Given the description of an element on the screen output the (x, y) to click on. 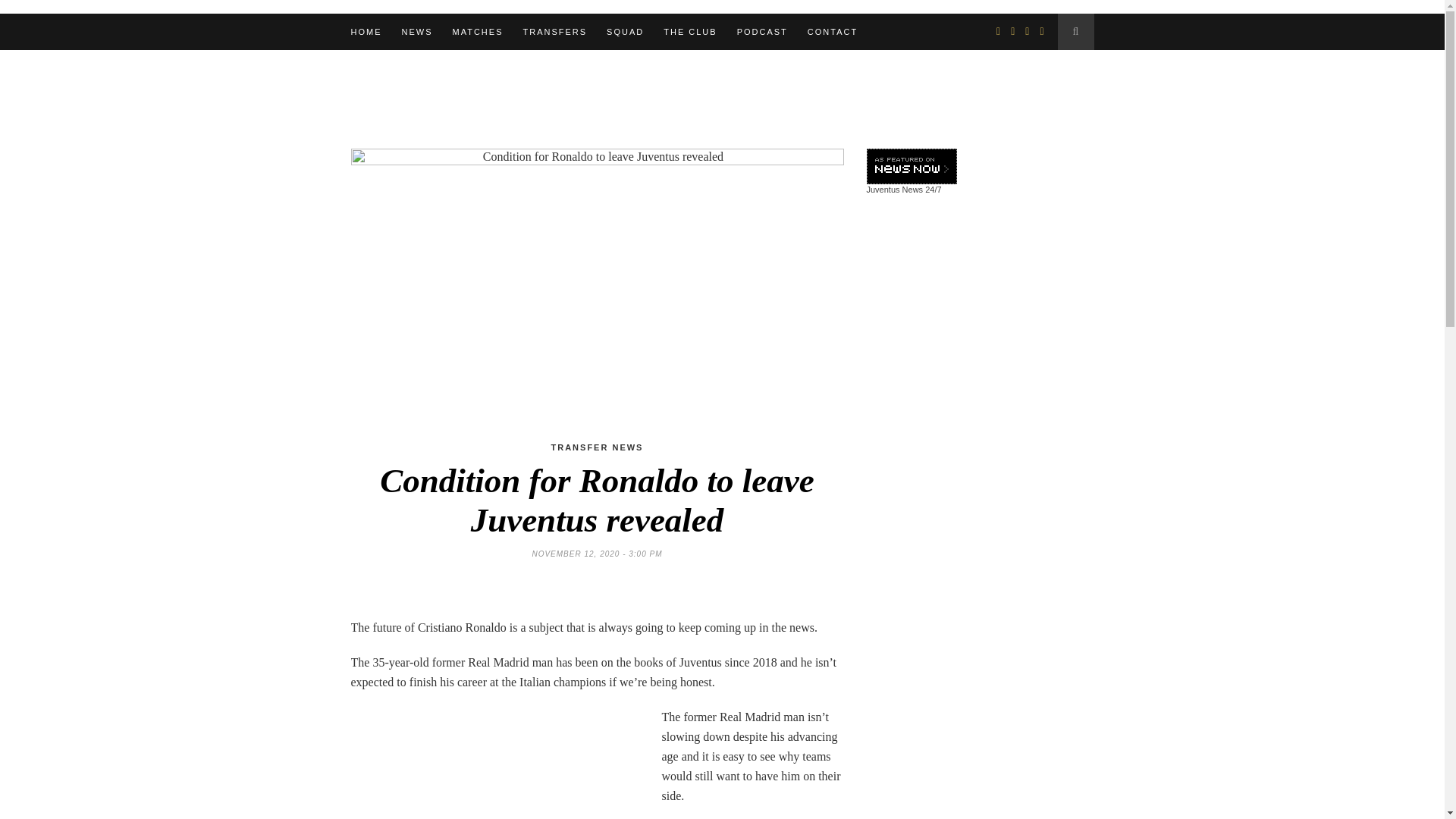
MATCHES (476, 31)
TRANSFERS (554, 31)
Contact (832, 31)
CONTACT (832, 31)
THE CLUB (689, 31)
The Club (689, 31)
PODCAST (761, 31)
Squad (625, 31)
SQUAD (625, 31)
Matches (476, 31)
